Given the description of an element on the screen output the (x, y) to click on. 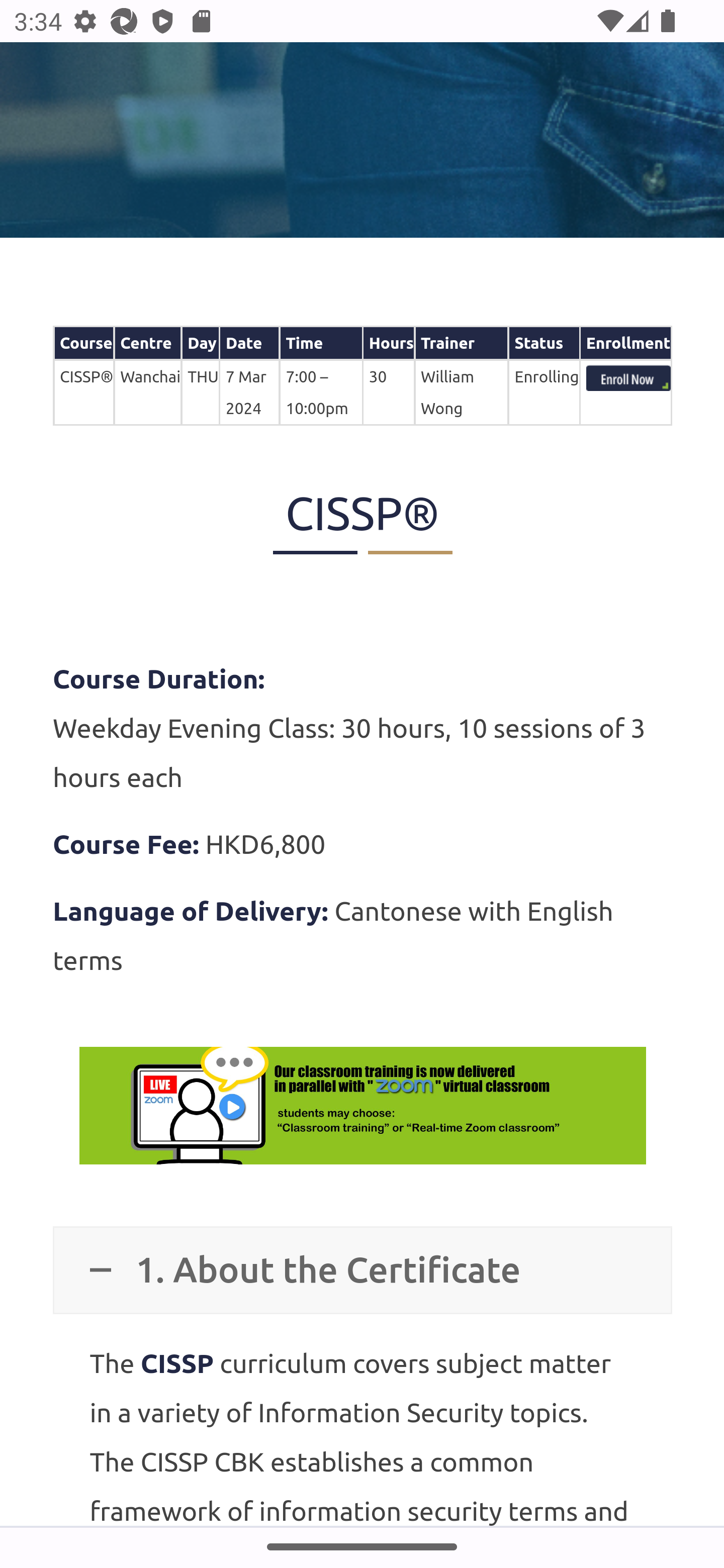
index (627, 379)
